Given the description of an element on the screen output the (x, y) to click on. 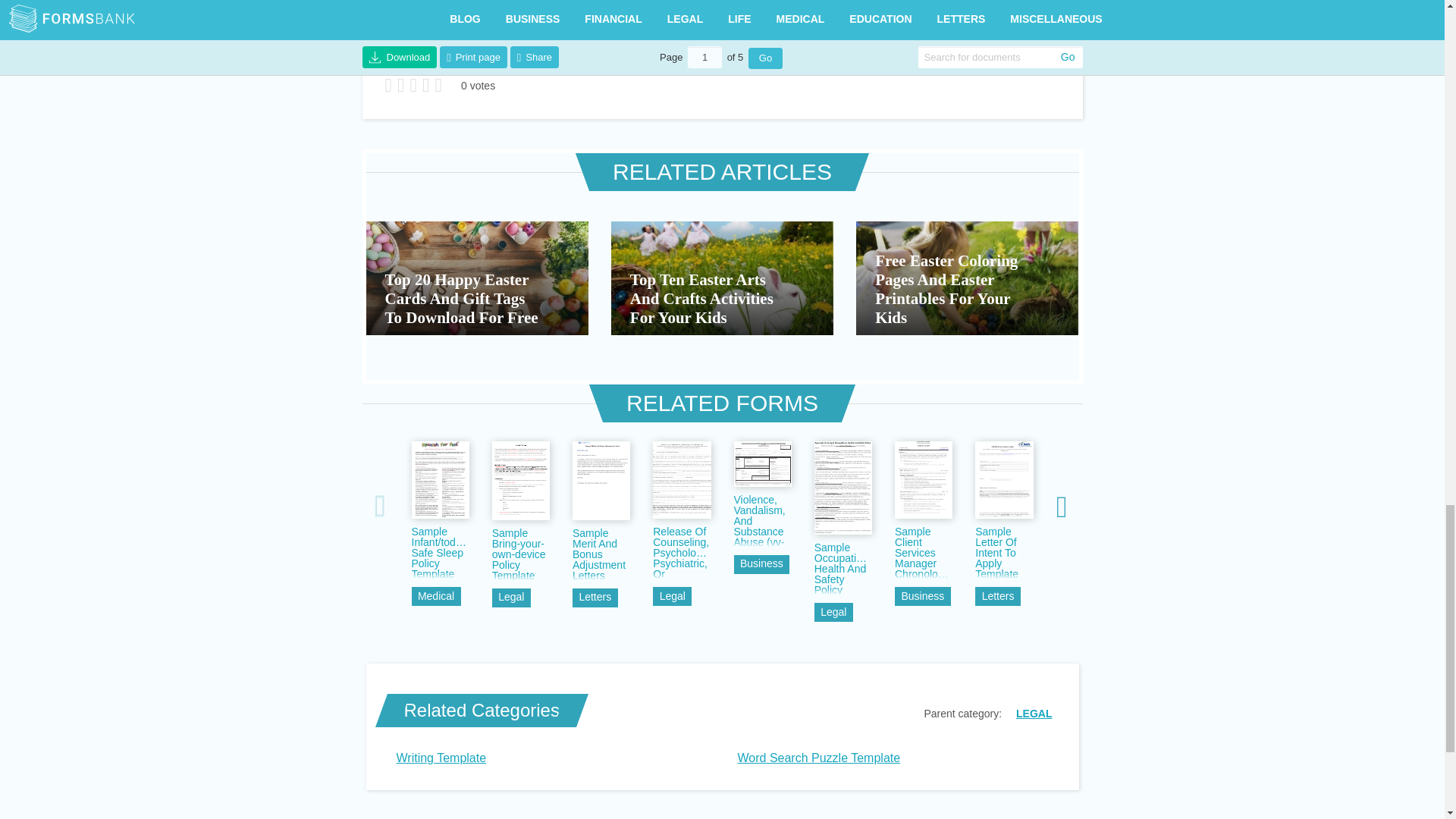
Sample Occupational Health And Safety Policy Template (842, 568)
Legal (511, 597)
Sample Client Services Manager Chronological Resume Template (923, 552)
Sample Bring-your-own-device Policy Template (521, 553)
Medical (435, 596)
Legal (511, 597)
Top 20 Happy Easter Cards And Gift Tags To Download For Free (476, 277)
Sample Bring-your-own-device Policy Template (521, 553)
Letters (594, 597)
